Given the description of an element on the screen output the (x, y) to click on. 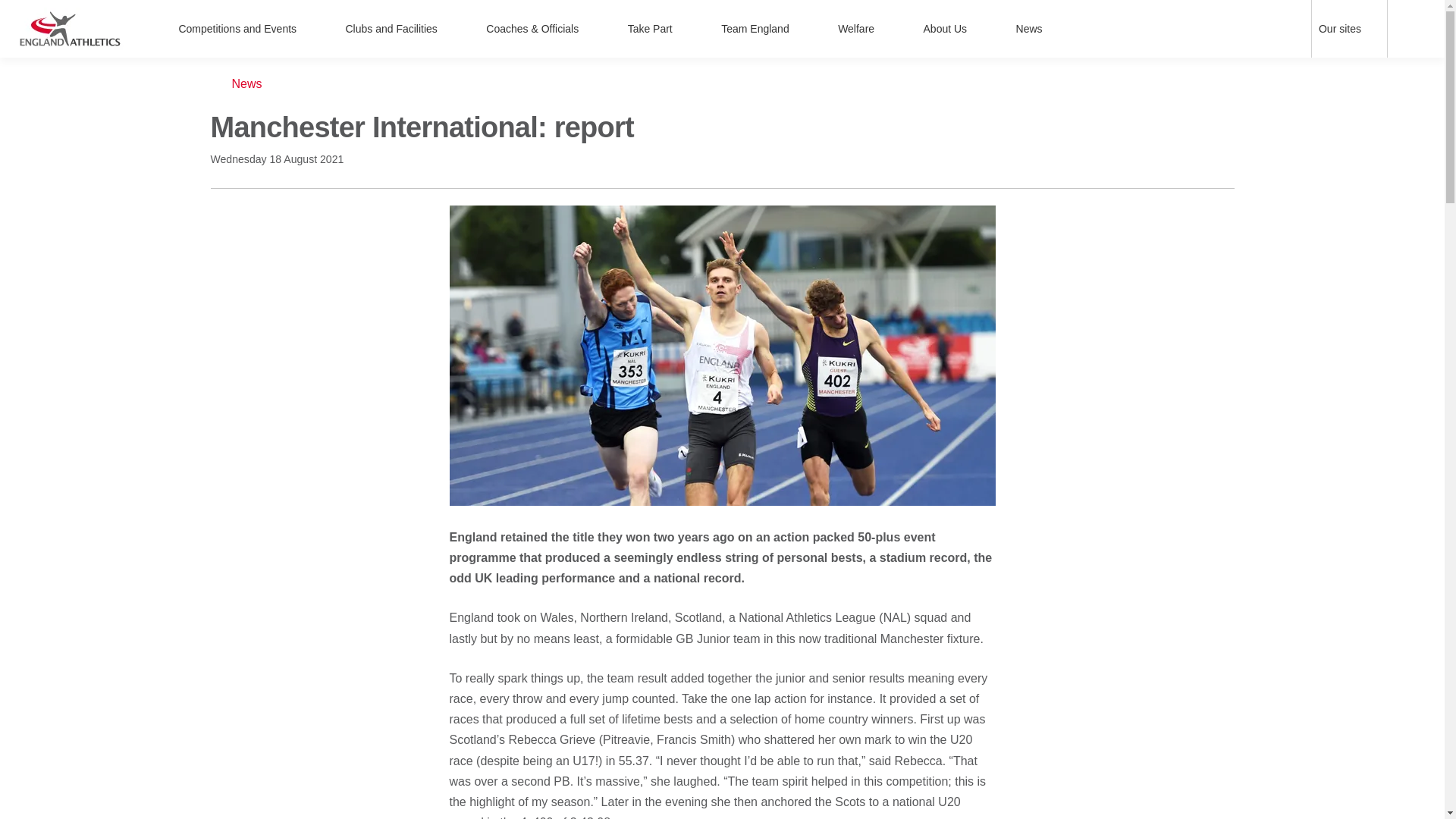
chevron-right (979, 28)
chevron-right (802, 28)
chevron-right (684, 28)
chevron-right (1373, 28)
England Athletics (69, 28)
Clubs and Facilities (400, 28)
chevron-right (450, 28)
Competitions and Events (245, 28)
chevron-right (887, 28)
chevron-right (309, 28)
